Given the description of an element on the screen output the (x, y) to click on. 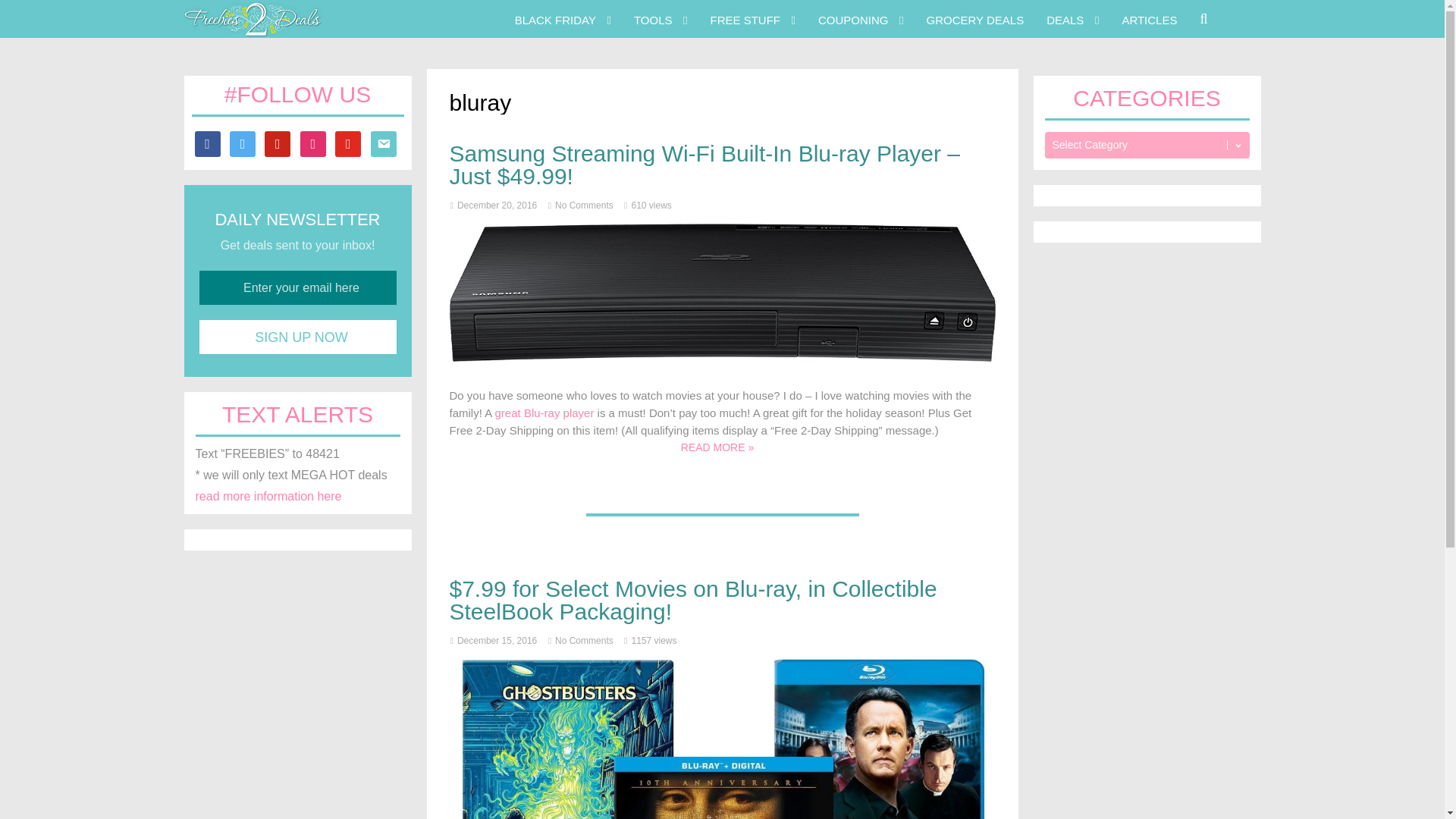
Sign Up Now (297, 336)
Follow Me (243, 142)
Freebies2Deals (251, 32)
TOOLS (652, 18)
Friend me on Facebook (206, 142)
BLACK FRIDAY (555, 18)
Instagram (312, 142)
